Given the description of an element on the screen output the (x, y) to click on. 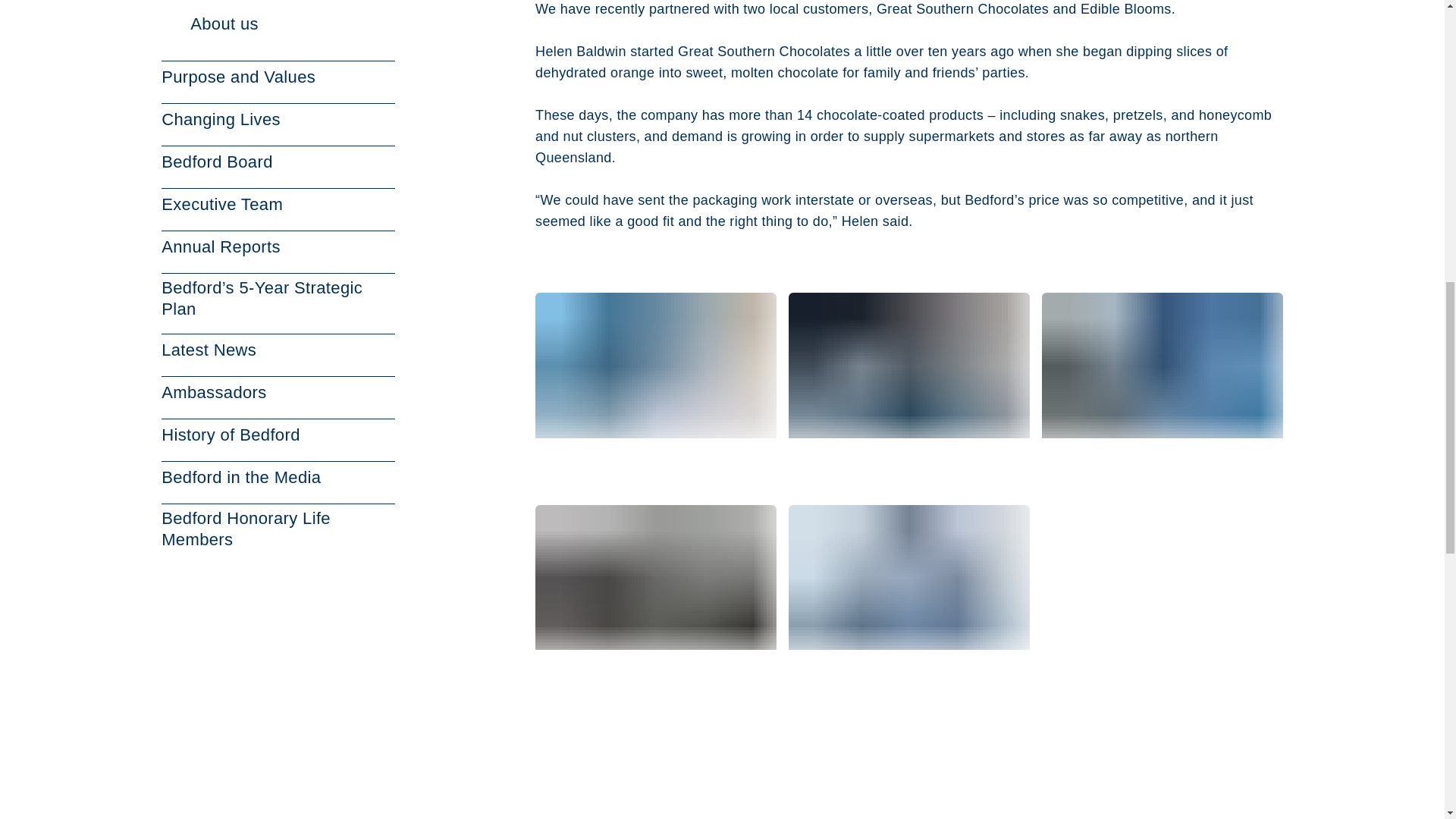
Packaged chocolates being sealed (1162, 385)
A range of packaged chocolates (655, 598)
Bedford employee Paul holds a package of chocolates (655, 385)
